Given the description of an element on the screen output the (x, y) to click on. 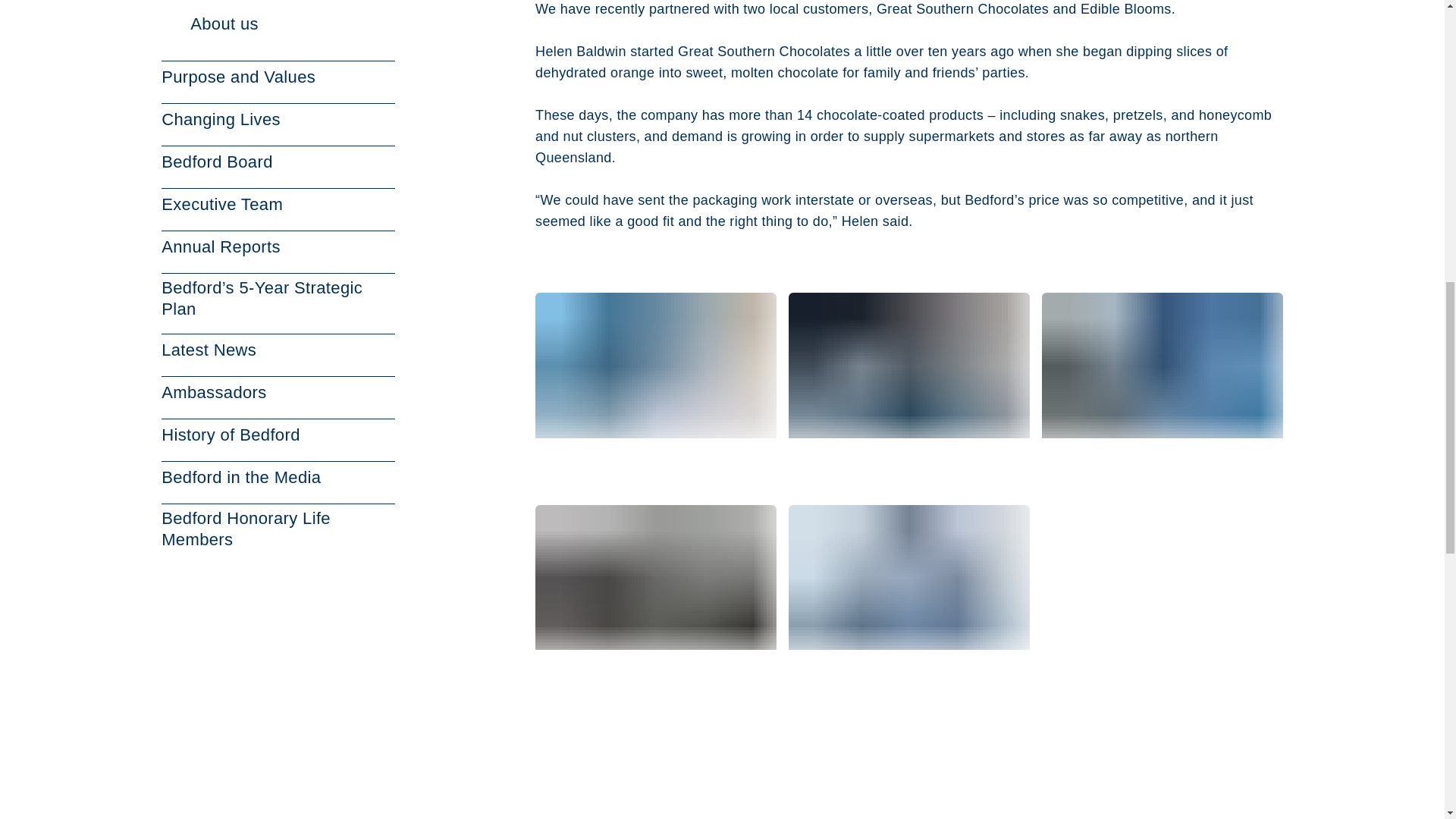
Packaged chocolates being sealed (1162, 385)
A range of packaged chocolates (655, 598)
Bedford employee Paul holds a package of chocolates (655, 385)
